Given the description of an element on the screen output the (x, y) to click on. 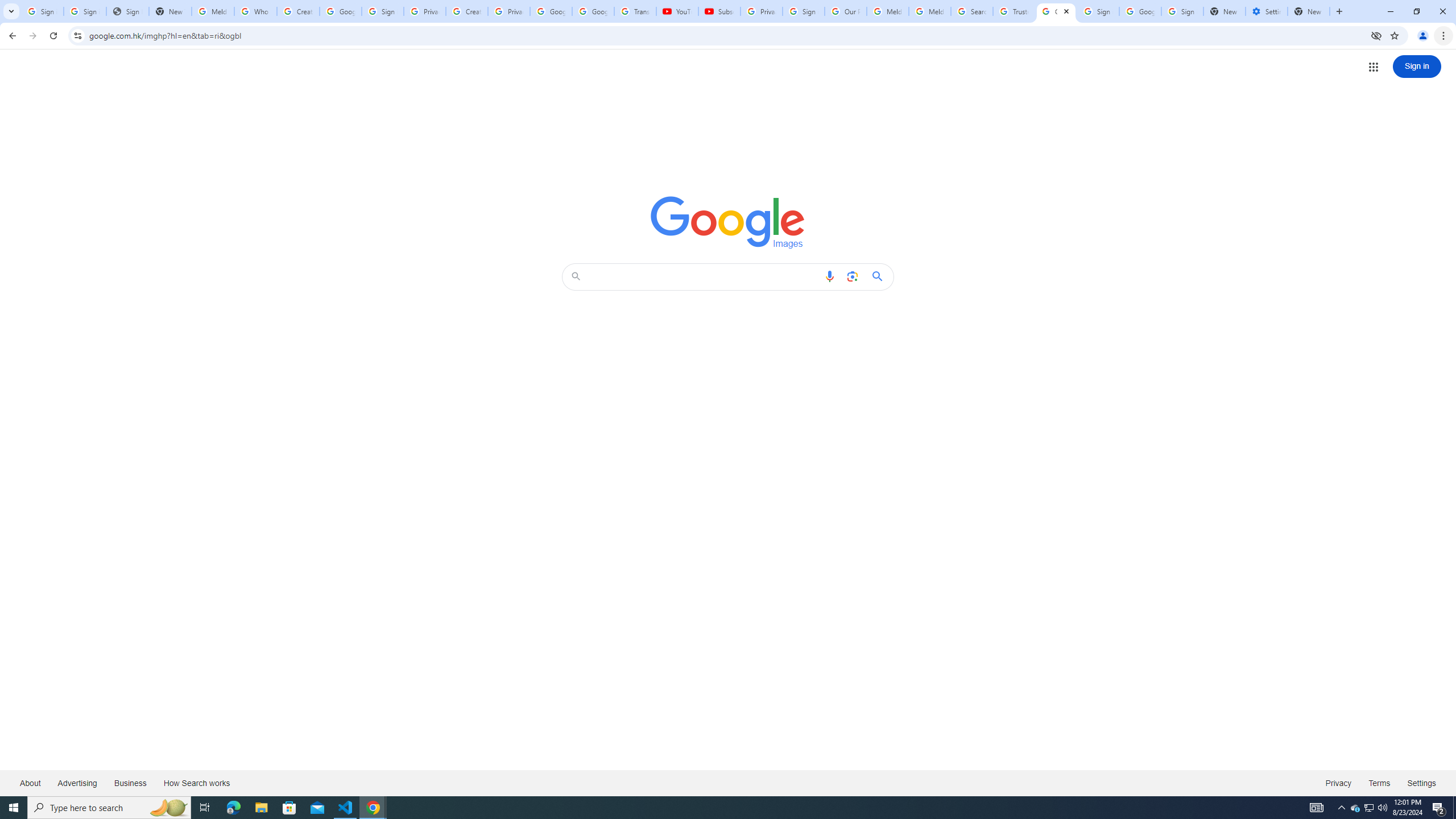
Reload (52, 35)
Google Images (1055, 11)
Terms (1379, 782)
Google Account (592, 11)
System (6, 6)
How Search works (196, 782)
Sign in - Google Accounts (85, 11)
Search by image (852, 276)
YouTube (676, 11)
Bookmark this tab (1393, 35)
Advertising (77, 782)
